Given the description of an element on the screen output the (x, y) to click on. 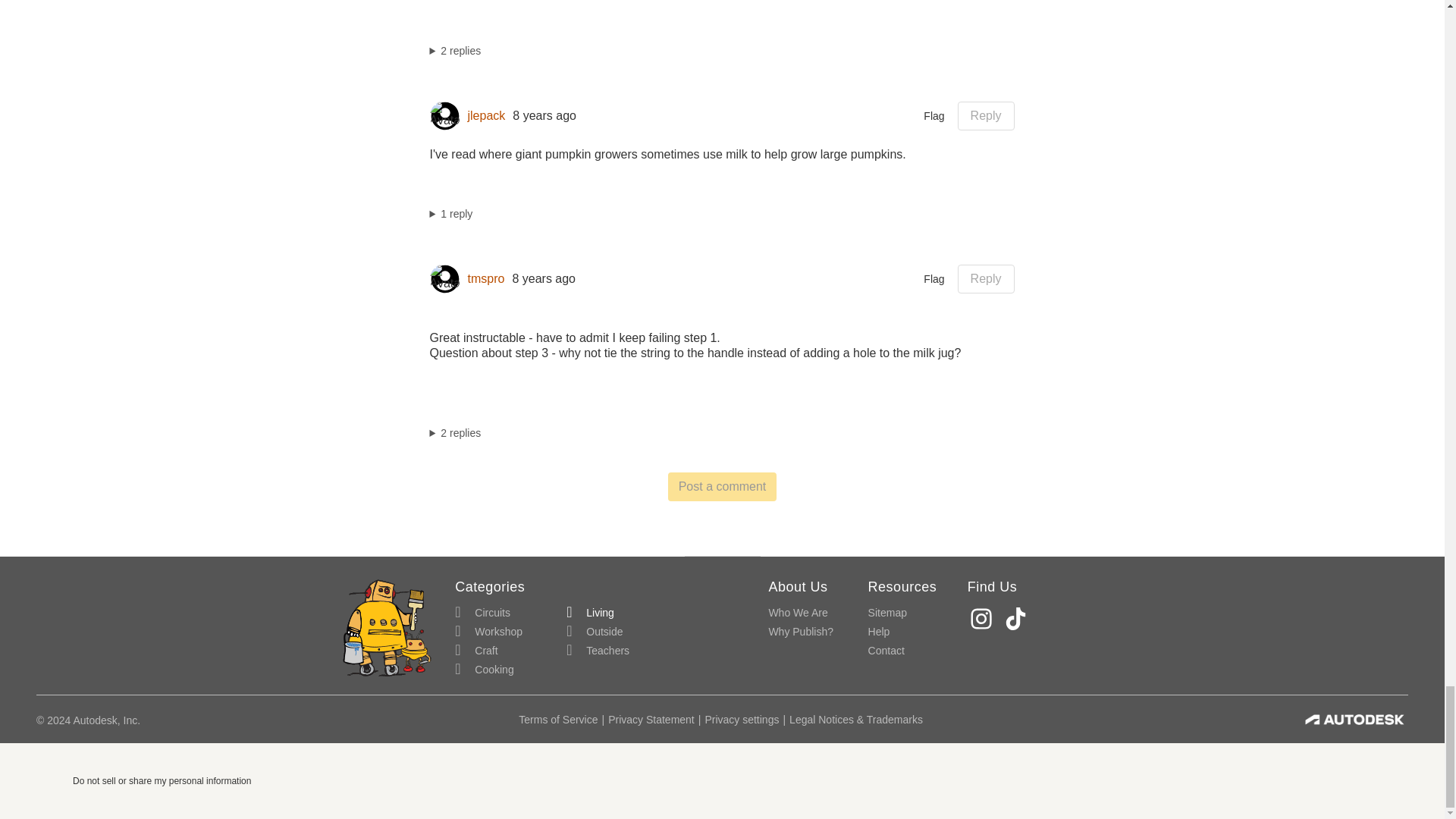
2016-02-14 14:51:33.0 (543, 278)
2016-02-14 19:44:37.0 (544, 115)
